Given the description of an element on the screen output the (x, y) to click on. 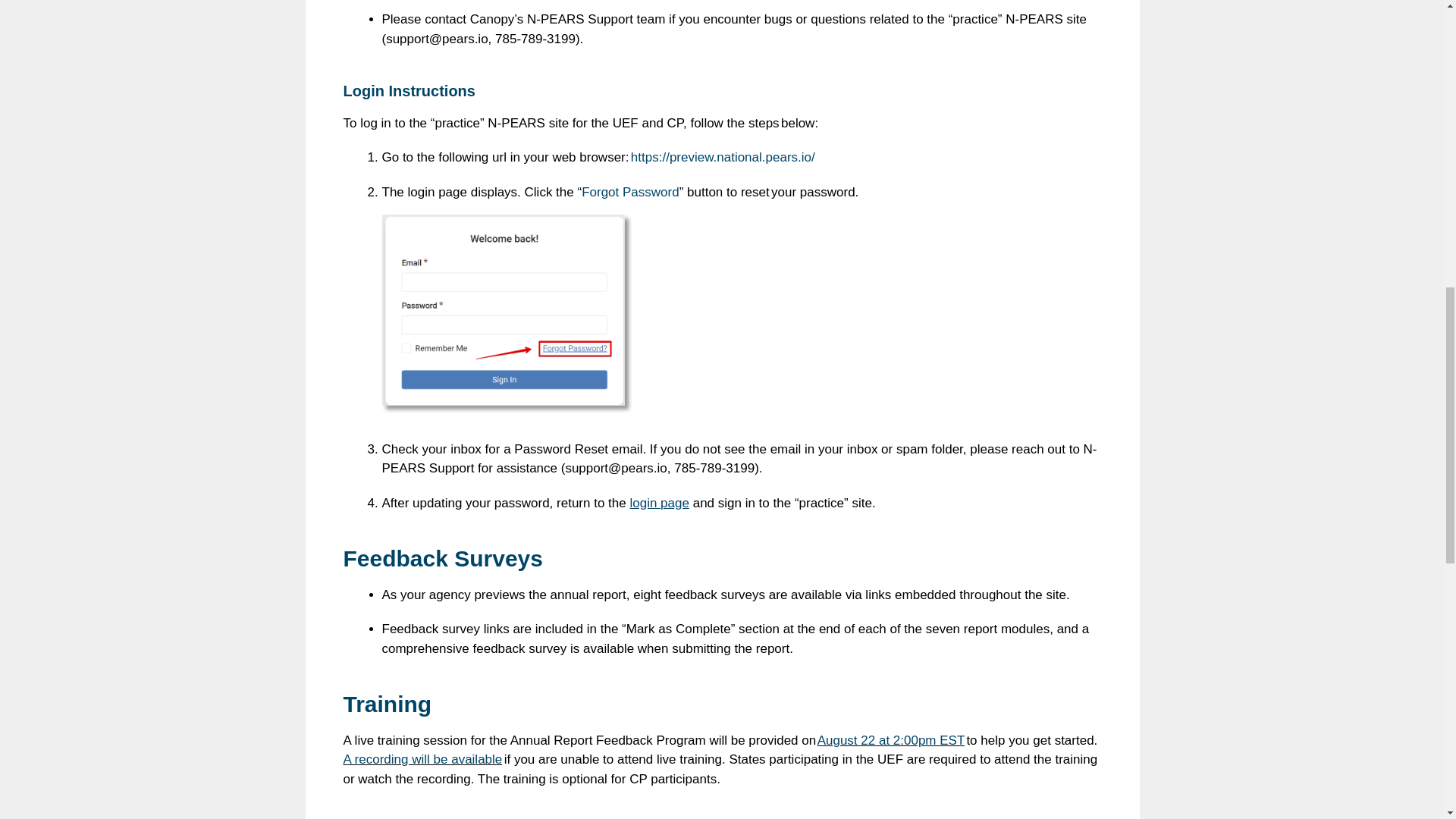
A recording will be available (422, 759)
Forgot Password (629, 192)
August 22 at 2:00pm EST (889, 740)
login page (658, 503)
